Given the description of an element on the screen output the (x, y) to click on. 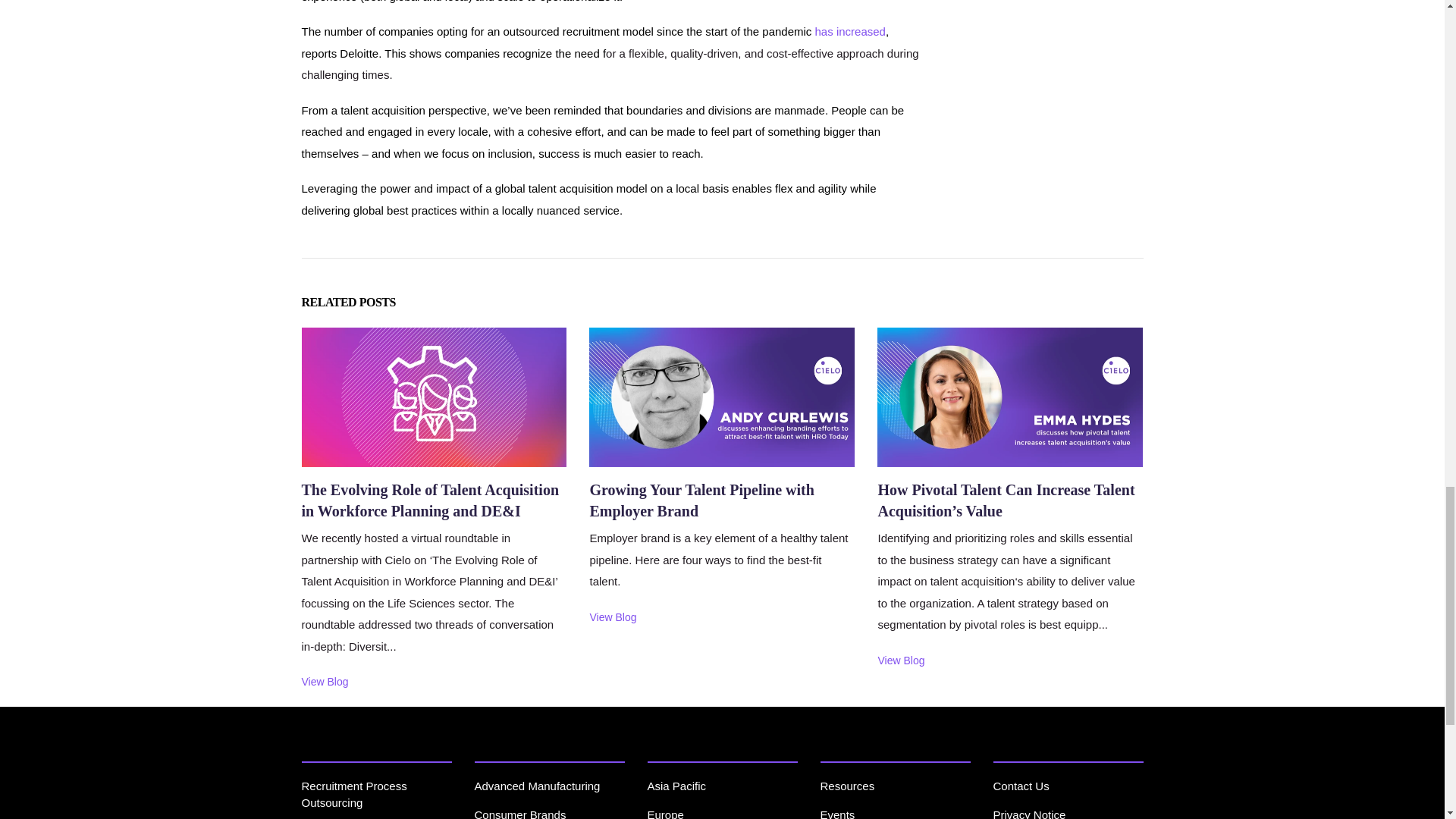
View Blog (325, 684)
Growing Your Talent Pipeline with Employer Brand (701, 514)
Recruitment Process Outsourcing (354, 794)
Advanced Manufacturing (536, 785)
Asia Pacific (676, 785)
has increased (850, 31)
View Blog (900, 662)
Consumer Brands (520, 813)
View Blog (612, 619)
